Given the description of an element on the screen output the (x, y) to click on. 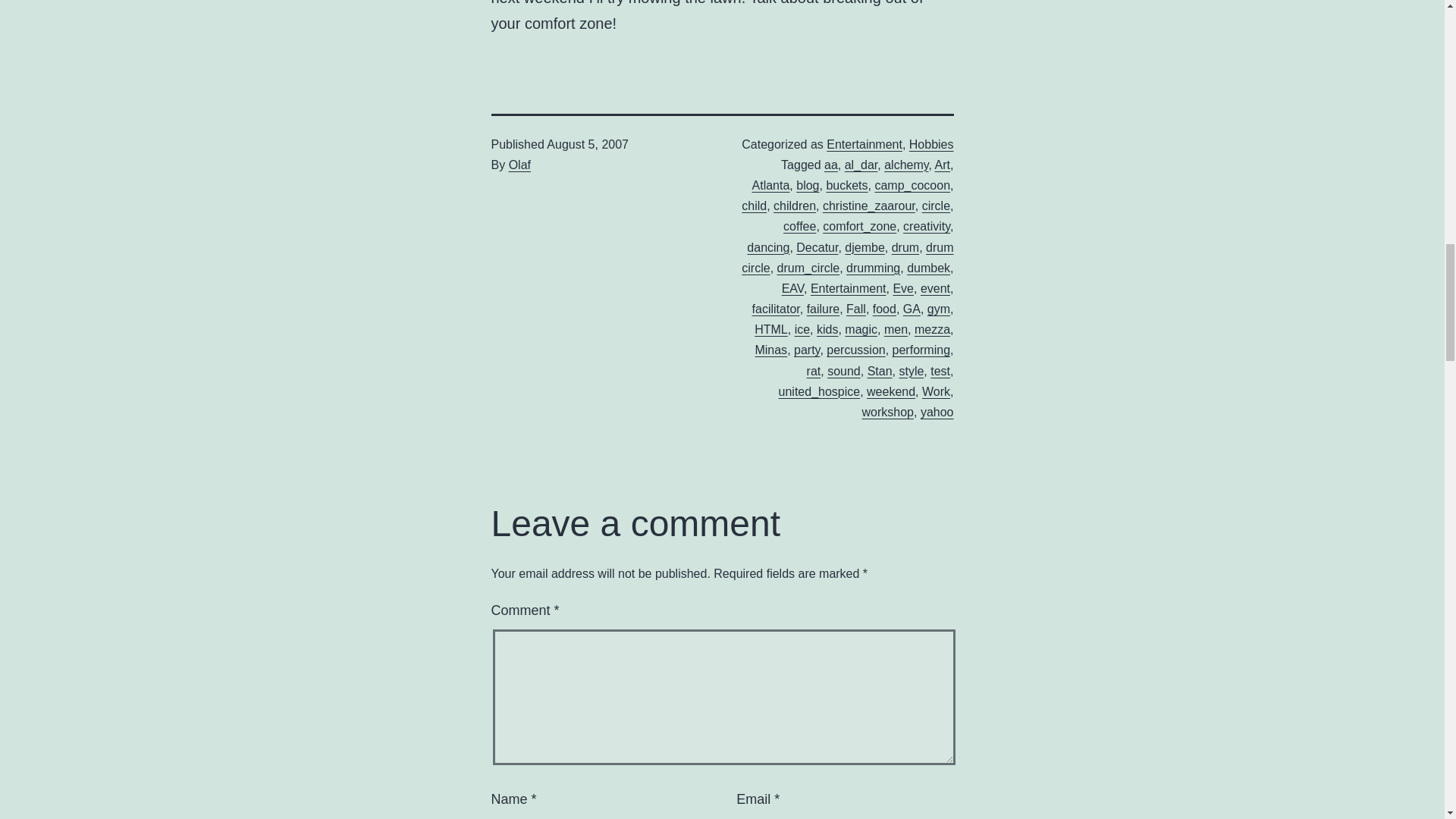
Olaf (519, 164)
Decatur (817, 246)
aa (831, 164)
Entertainment (864, 144)
coffee (799, 226)
drum (904, 246)
Entertainment (848, 287)
child (754, 205)
drum circle (847, 257)
Eve (903, 287)
